Given the description of an element on the screen output the (x, y) to click on. 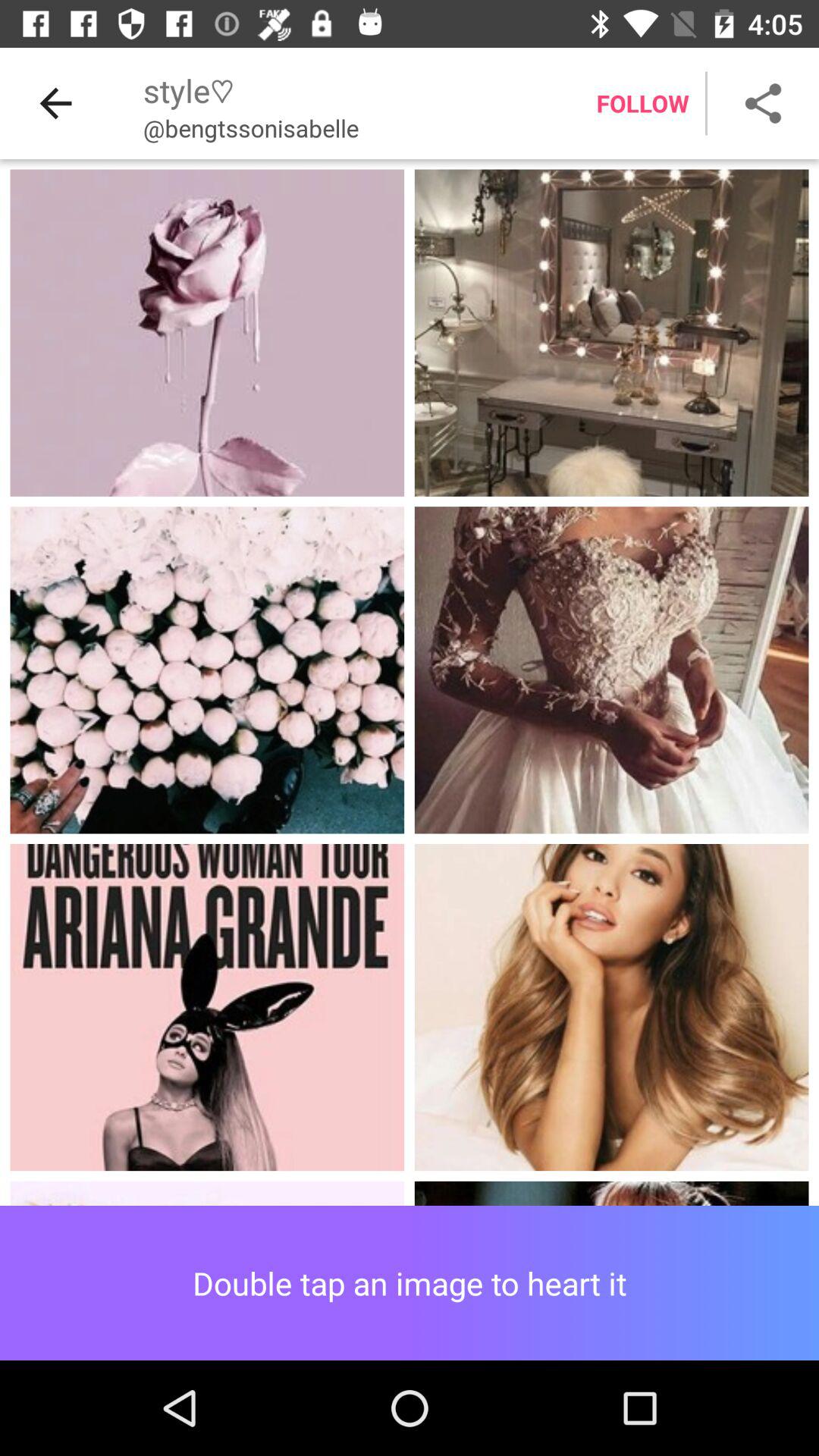
scroll to follow (642, 103)
